Given the description of an element on the screen output the (x, y) to click on. 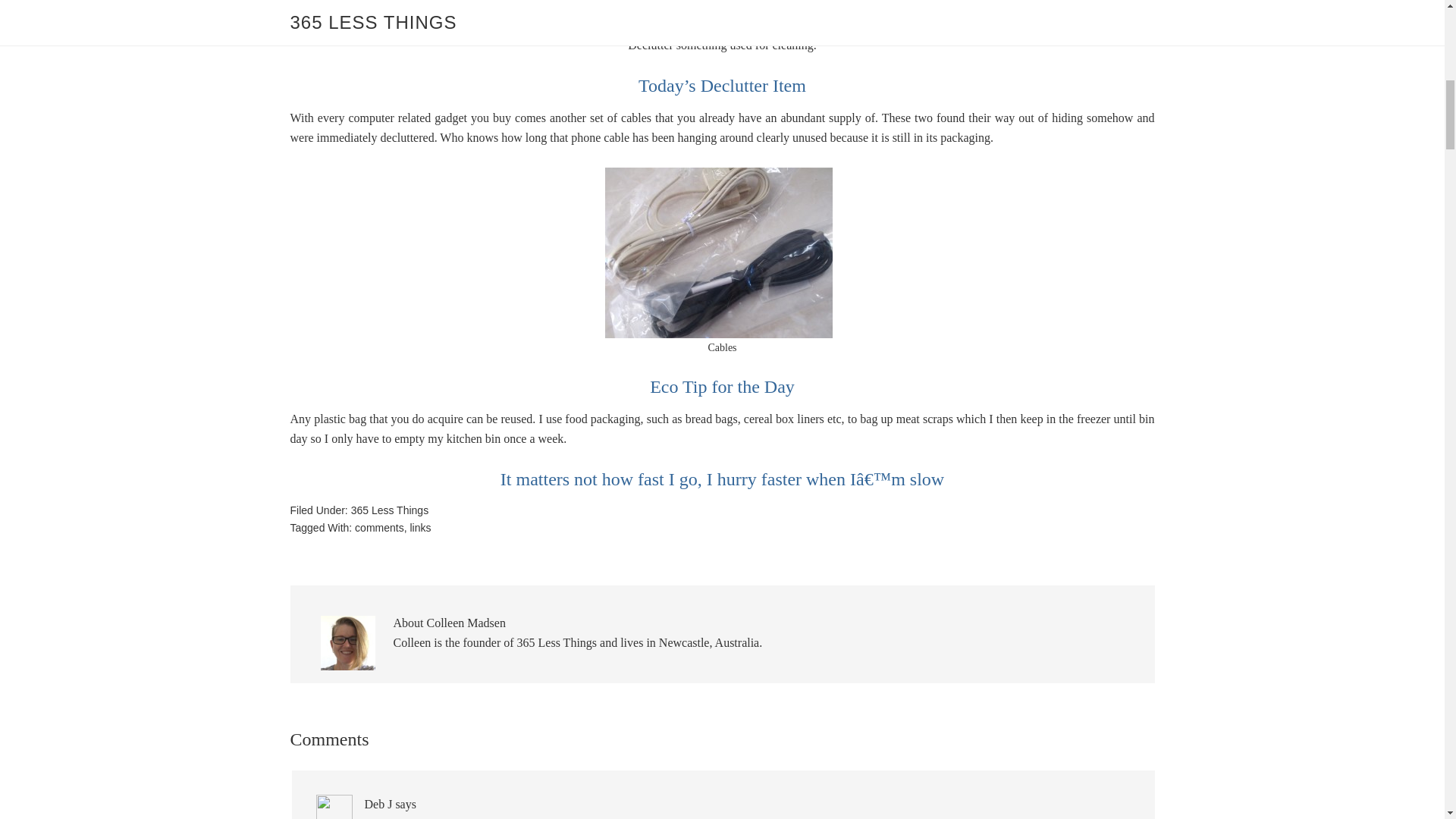
October 5, 2012 at 4:48 am (430, 818)
comments (379, 527)
links (419, 527)
365 Less Things (389, 510)
